Given the description of an element on the screen output the (x, y) to click on. 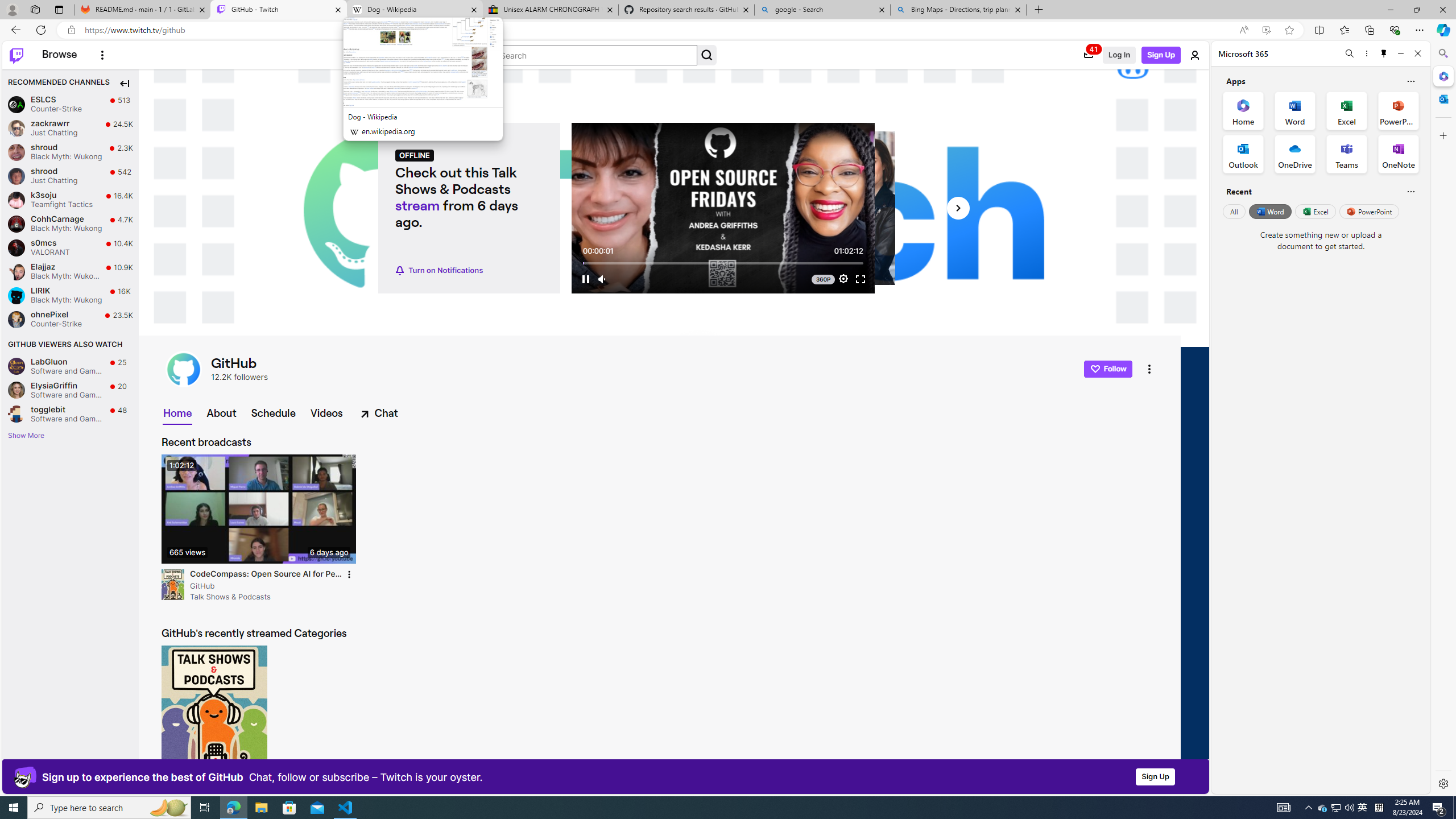
Elajjaz Elajjaz Black Myth: Wukong Live 10.9K viewers (70, 271)
CohhCarnage (15, 223)
Twitch Home (16, 54)
Collapse Side Nav (124, 83)
Sign Up (1154, 776)
Log In (1118, 54)
Talk Shows & Podcasts cover image (214, 715)
